Given the description of an element on the screen output the (x, y) to click on. 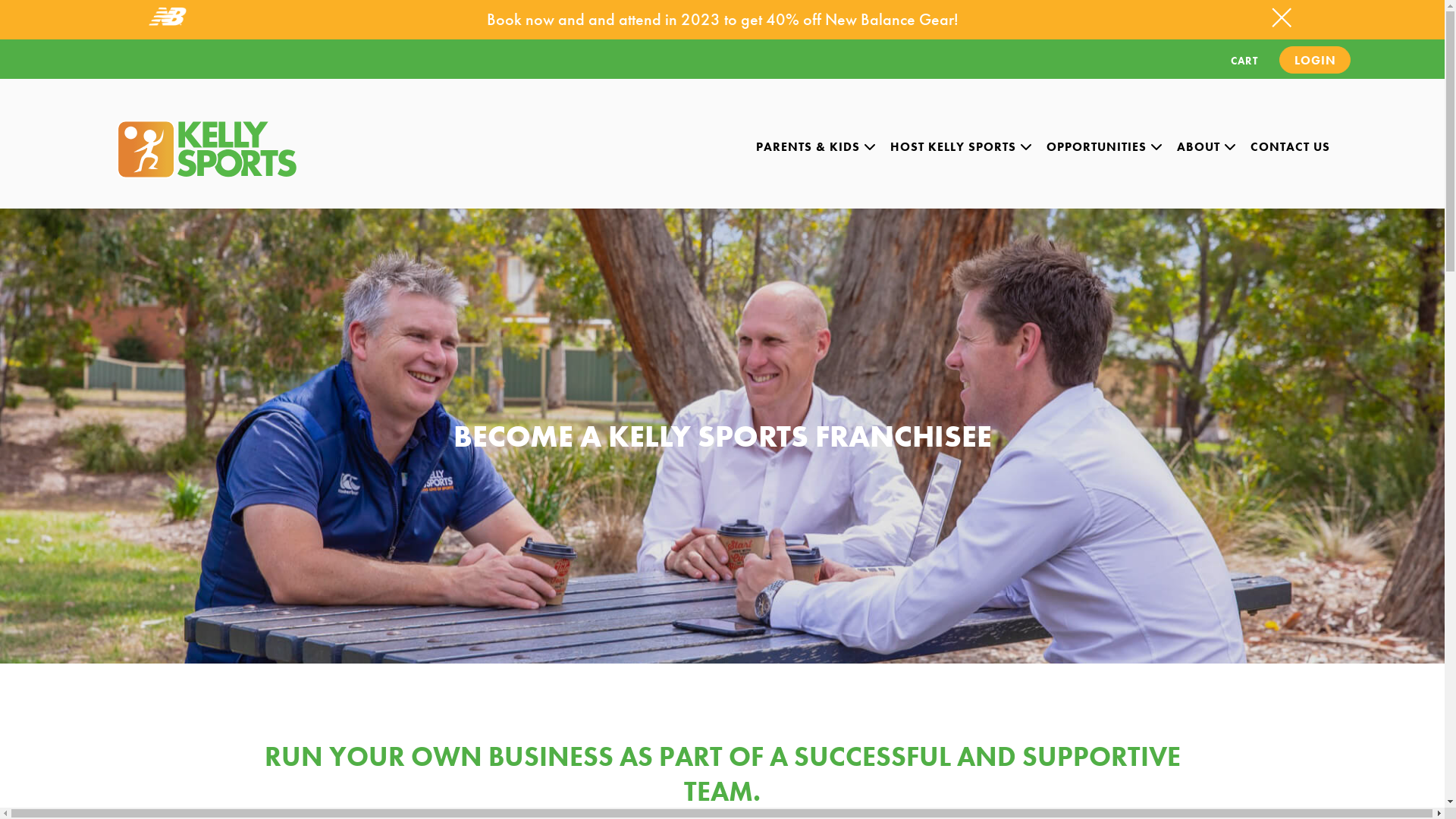
HOST KELLY SPORTS Element type: text (961, 146)
PARENTS & KIDS Element type: text (816, 146)
CART Element type: text (1244, 59)
OPPORTUNITIES Element type: text (1104, 146)
LOGIN Element type: text (1314, 59)
ABOUT Element type: text (1206, 146)
Kelly Sports Element type: hover (206, 149)
CONTACT US Element type: text (1290, 146)
